Given the description of an element on the screen output the (x, y) to click on. 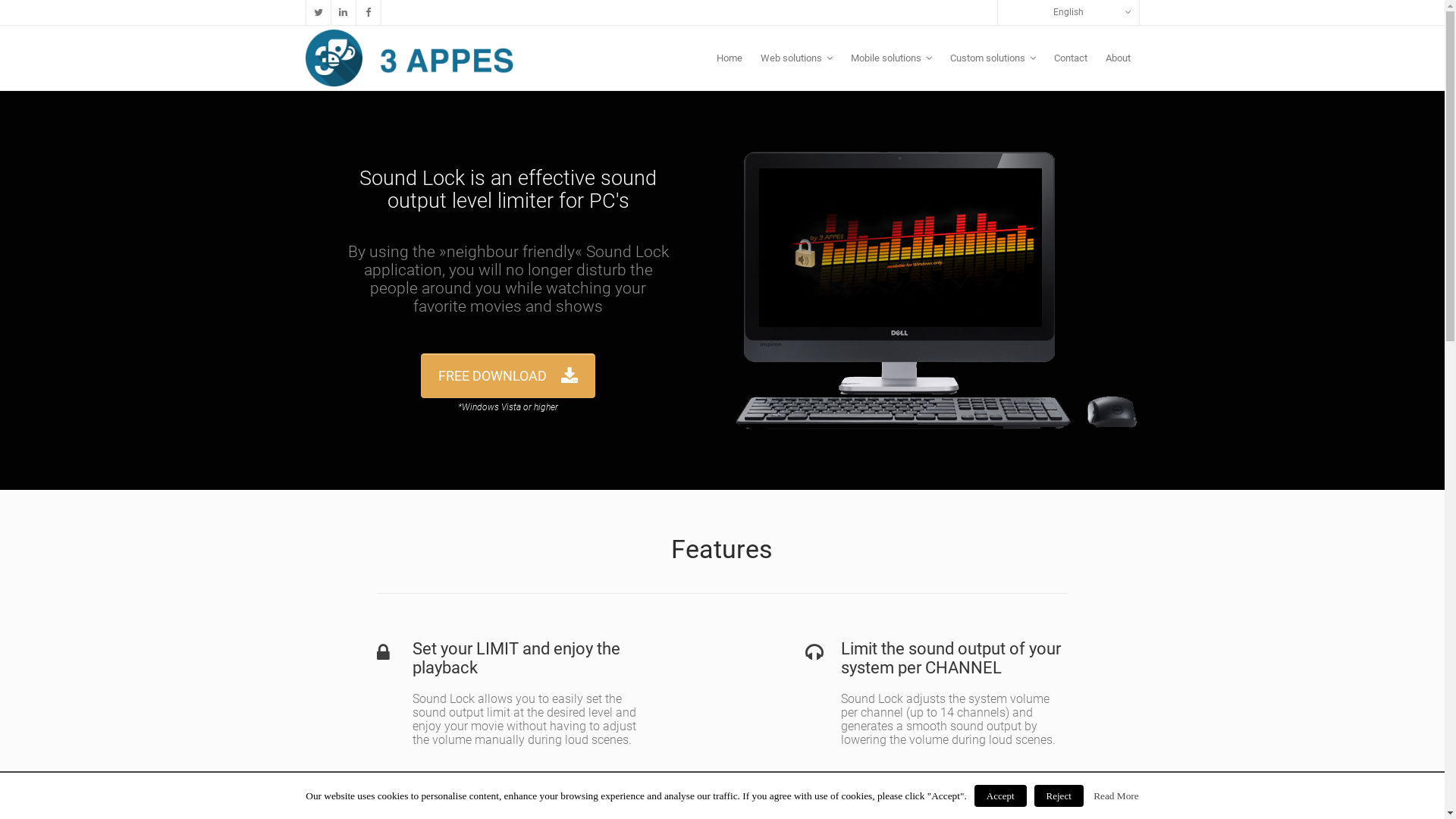
Mobile solutions Element type: text (891, 57)
Home Element type: text (728, 57)
Internet of things Element type: text (1042, 570)
Read More Element type: text (1116, 795)
e-Commerce Element type: text (622, 570)
Websites Element type: text (622, 601)
Reject Element type: text (1058, 795)
iOS apps Element type: text (831, 601)
Web solutions Element type: text (795, 57)
About Element type: text (1117, 57)
English Element type: text (1068, 12)
Web apps Element type: text (622, 632)
Android apps Element type: text (831, 570)
Custom software Element type: text (1042, 601)
info@3appes.com Element type: text (349, 668)
Custom solutions Element type: text (992, 57)
FREE DOWNLOAD Element type: text (507, 375)
+386 41 61 55 66 Element type: text (346, 618)
Contact Element type: text (1070, 57)
Cookie Policy Element type: text (333, 717)
Accept Element type: text (1000, 795)
Mobile games Element type: text (831, 632)
